Given the description of an element on the screen output the (x, y) to click on. 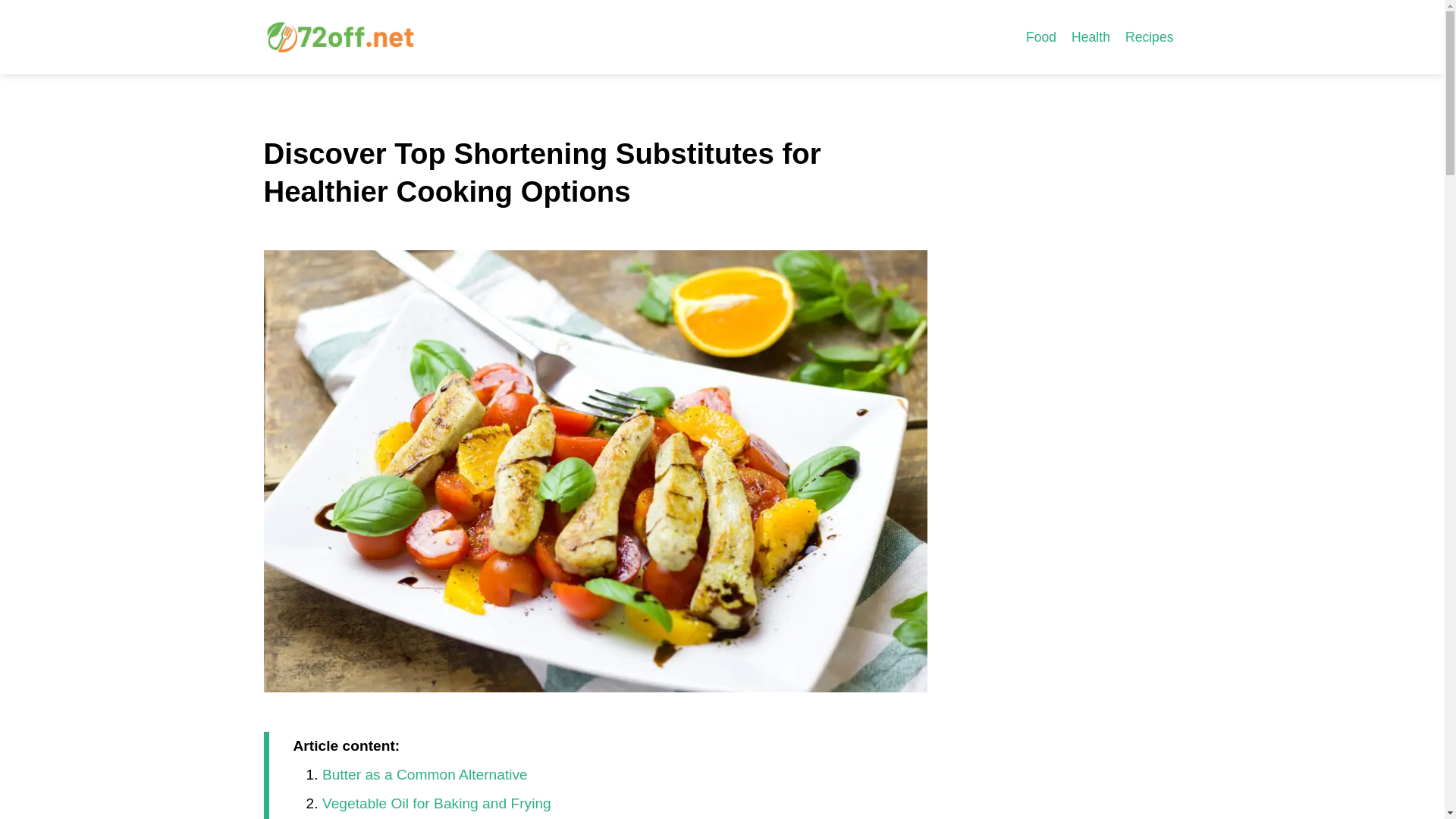
Health (1091, 36)
Butter as a Common Alternative (424, 774)
Food (1040, 36)
Recipes (1149, 36)
Vegetable Oil for Baking and Frying (436, 803)
